Given the description of an element on the screen output the (x, y) to click on. 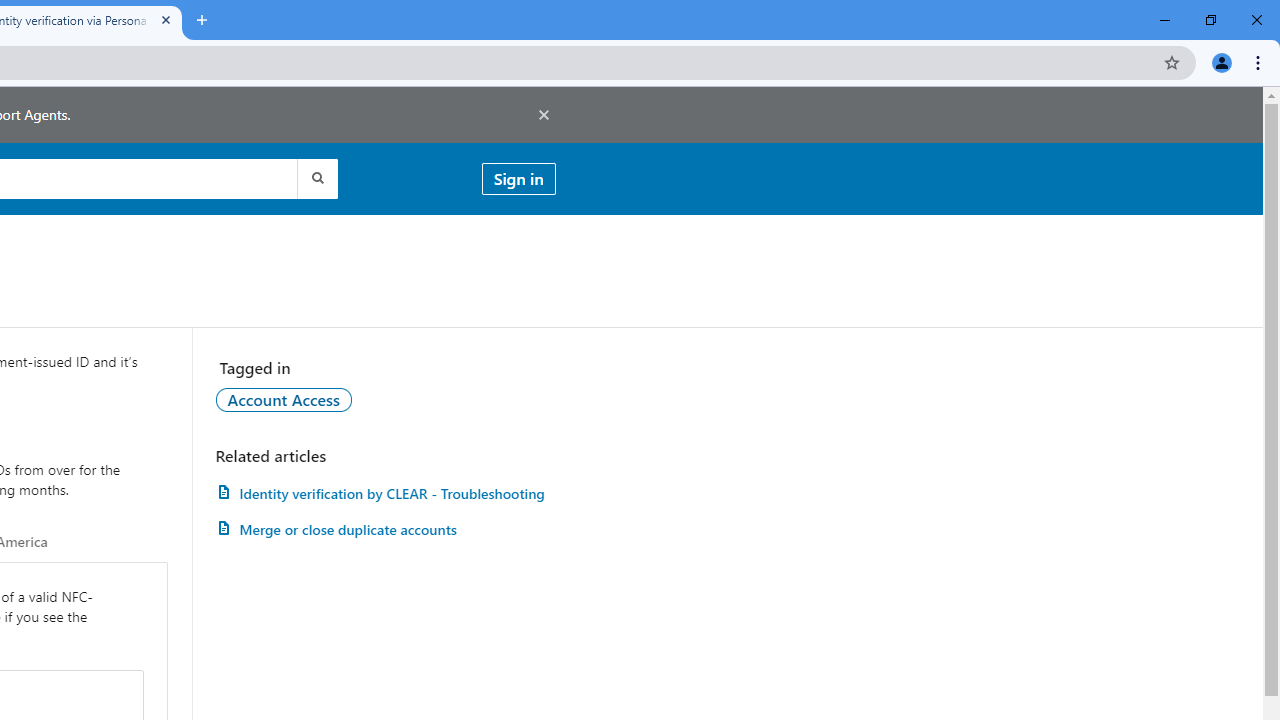
Account Access (283, 399)
AutomationID: article-link-a1337200 (385, 529)
Identity verification by CLEAR - Troubleshooting (385, 493)
AutomationID: article-link-a1457505 (385, 493)
Submit search (316, 178)
Merge or close duplicate accounts (385, 529)
AutomationID: topic-link-a151002 (283, 399)
